Given the description of an element on the screen output the (x, y) to click on. 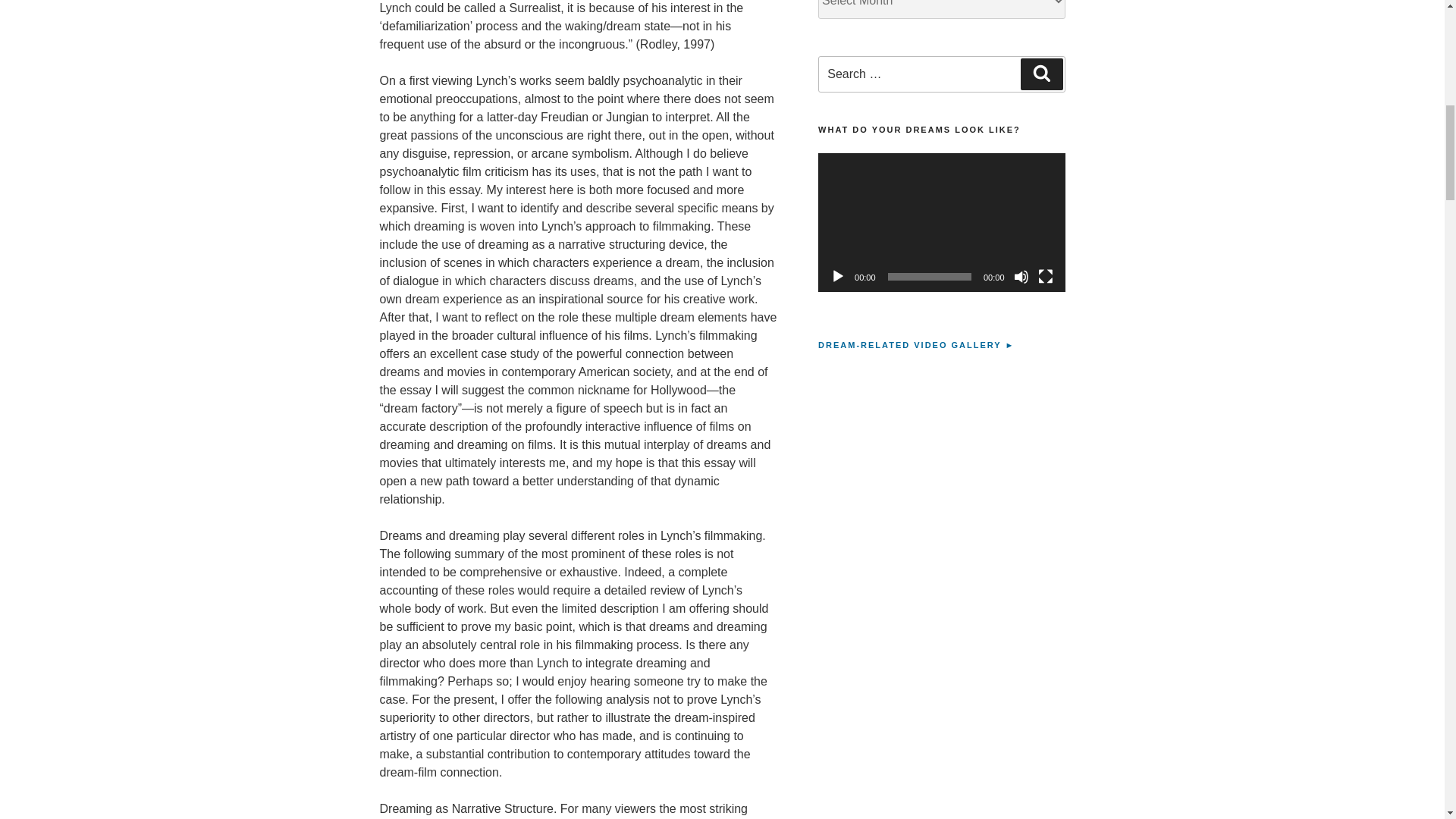
Play (837, 276)
Mute (1020, 276)
Fullscreen (1044, 276)
